Given the description of an element on the screen output the (x, y) to click on. 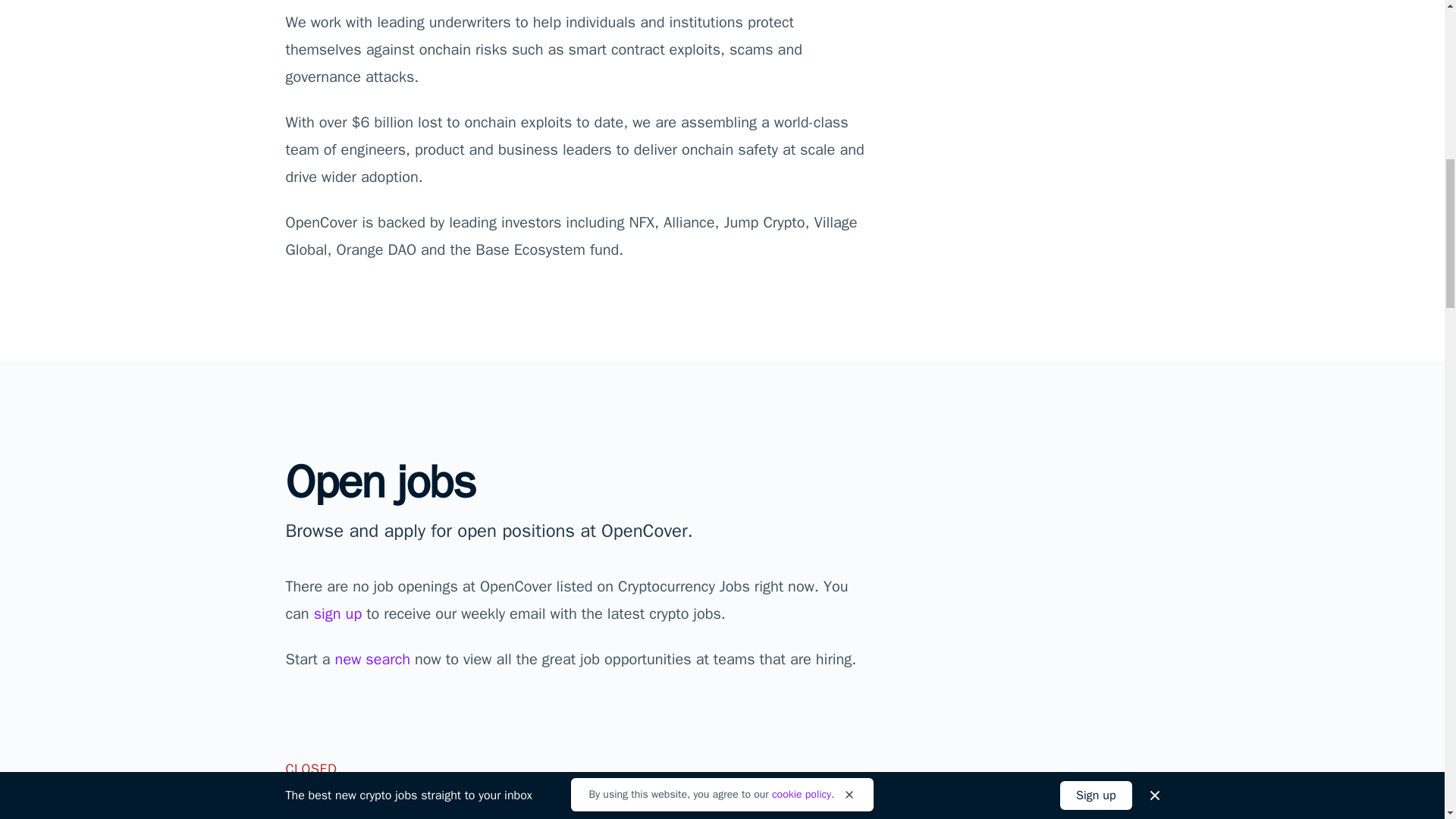
sign up (338, 613)
new search (372, 659)
Engineering (323, 811)
